Given the description of an element on the screen output the (x, y) to click on. 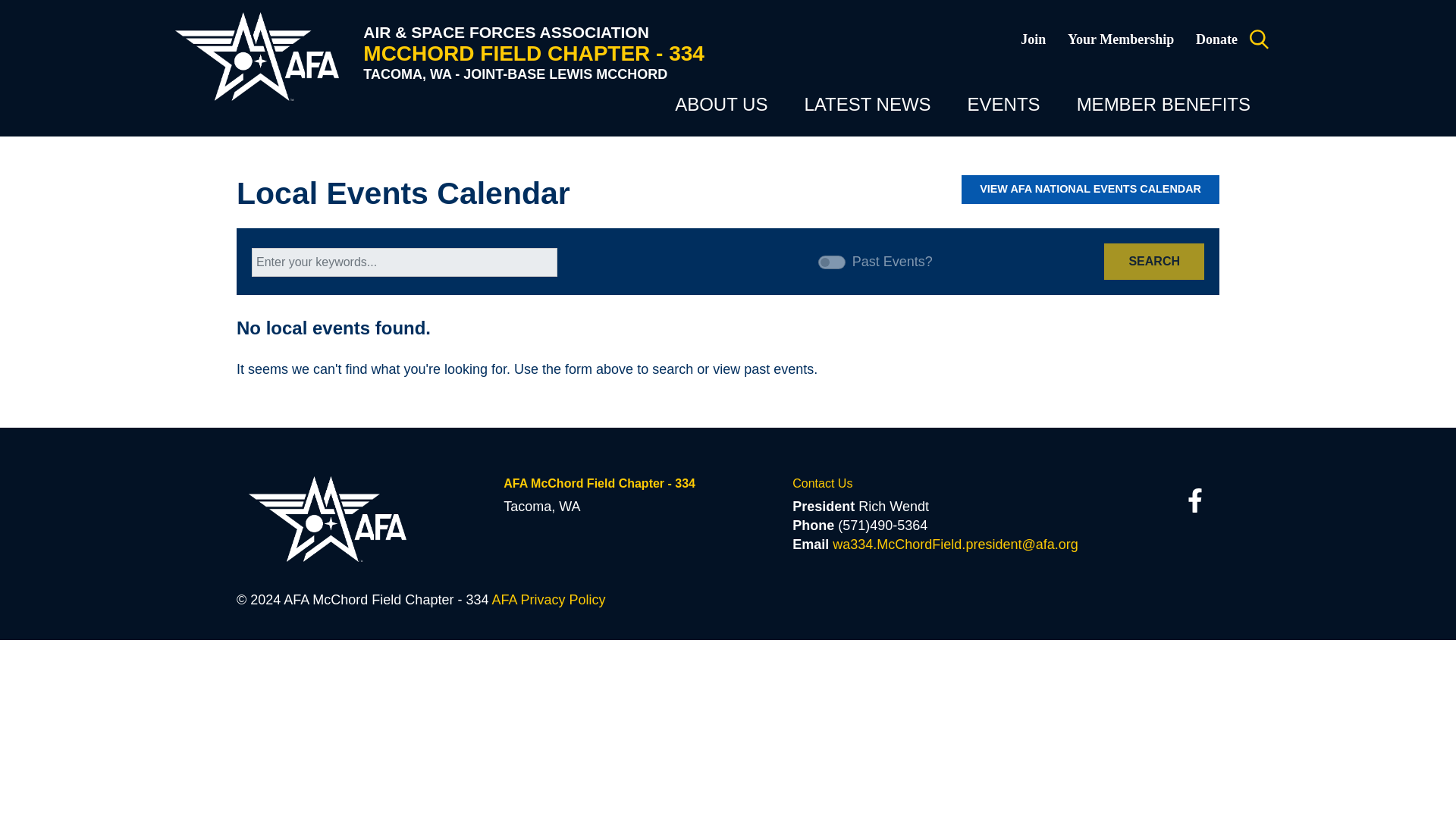
LATEST NEWS (866, 104)
VIEW AFA NATIONAL EVENTS CALENDAR (1090, 189)
Donate (1205, 45)
AFA Privacy Policy (548, 599)
facebook (1194, 500)
EVENTS (1004, 104)
ABOUT US (721, 104)
Your Membership (1109, 45)
1 (831, 262)
SEARCH (1153, 261)
